Given the description of an element on the screen output the (x, y) to click on. 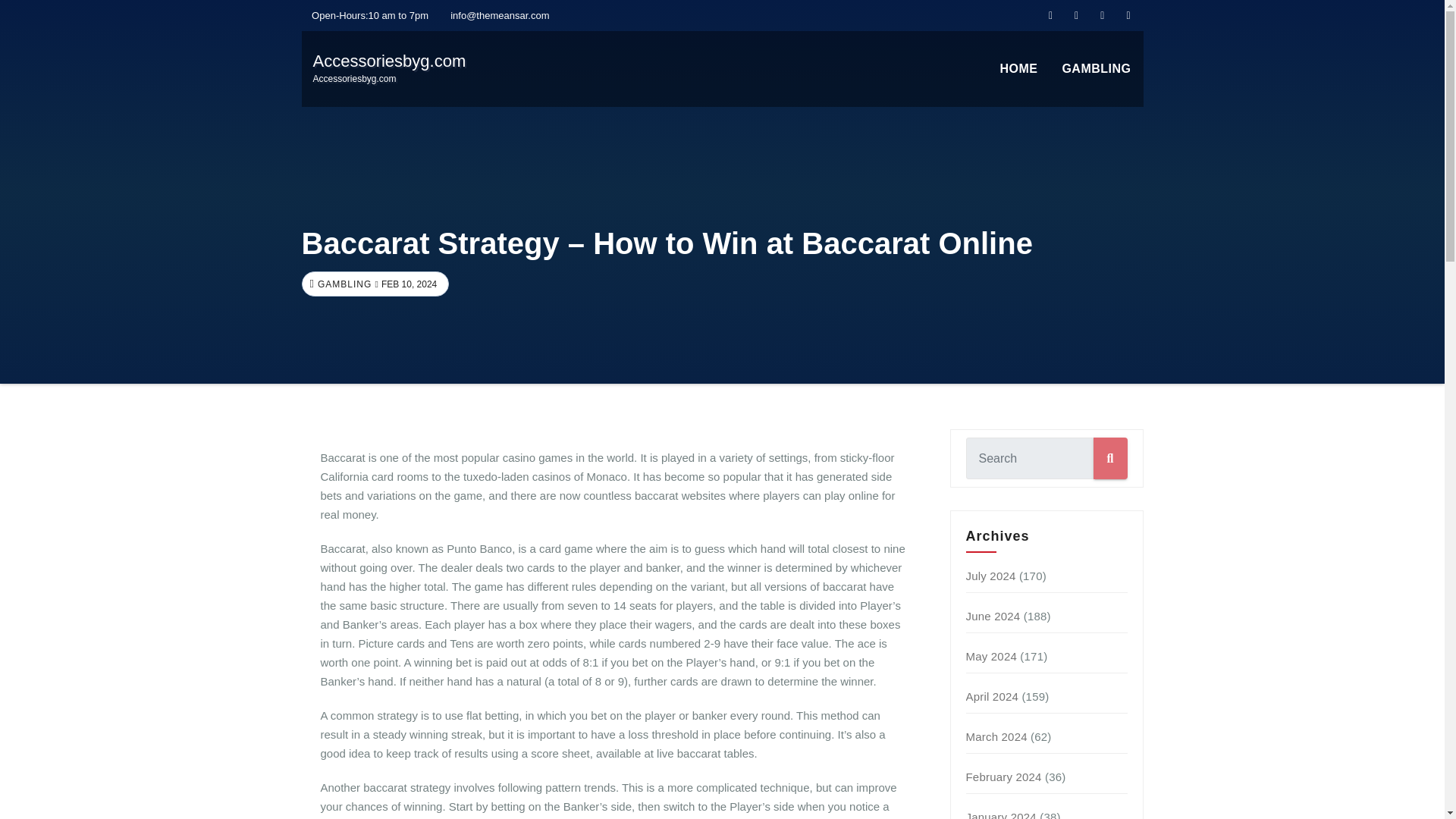
January 2024 (1001, 814)
Gambling (389, 68)
March 2024 (1095, 69)
GAMBLING (996, 736)
July 2024 (342, 284)
Home (991, 575)
GAMBLING (1018, 69)
June 2024 (1095, 69)
February 2024 (993, 615)
April 2024 (1004, 776)
HOME (992, 696)
May 2024 (1018, 69)
Open-Hours:10 am to 7pm (991, 656)
